Given the description of an element on the screen output the (x, y) to click on. 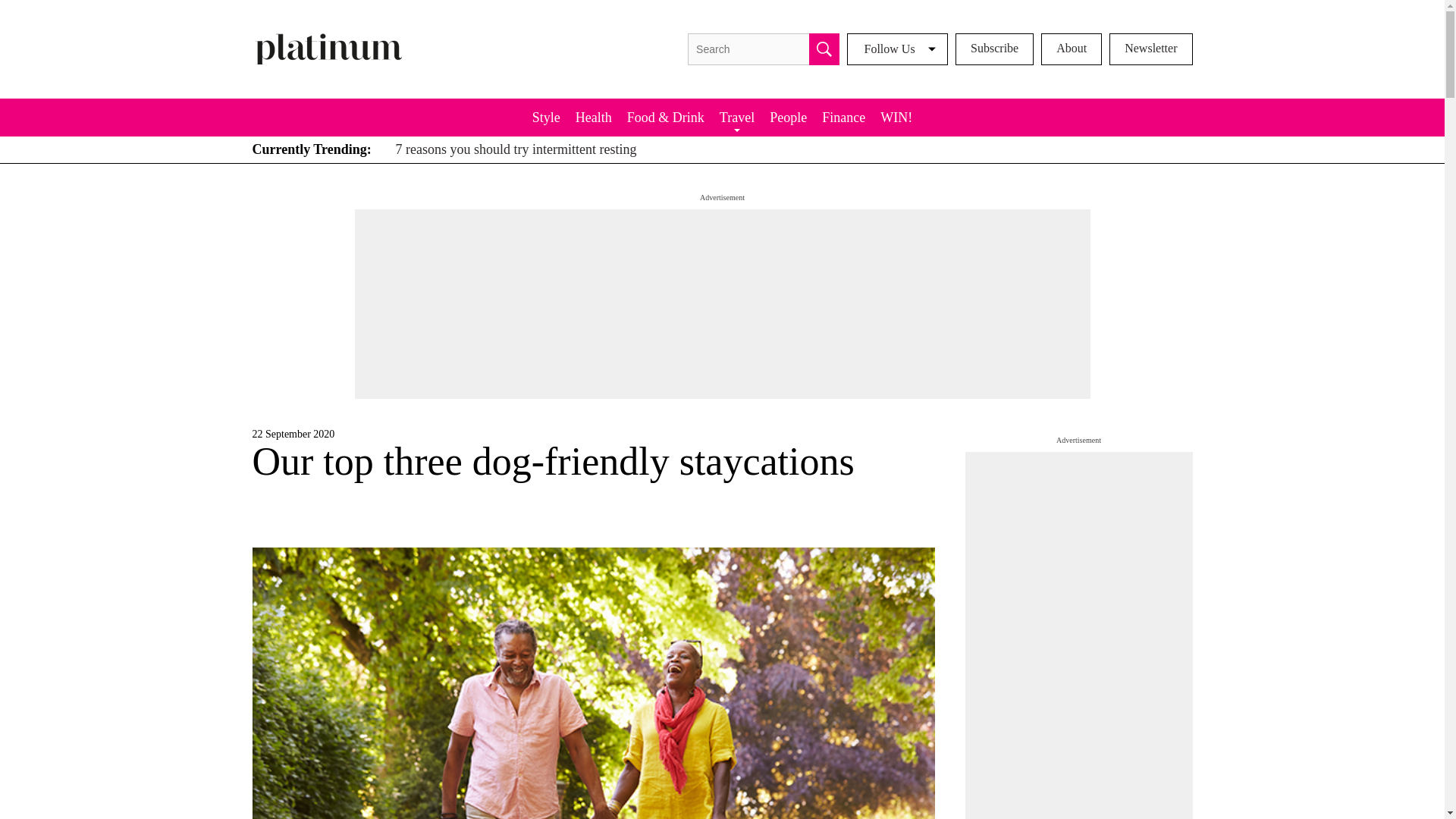
Subscribe (994, 49)
Travel (736, 117)
  7 reasons you should try intermittent resting  (513, 149)
Search (824, 49)
Health (593, 117)
People (787, 117)
WIN! (896, 117)
Follow Us (897, 49)
Newsletter (1150, 49)
Style (545, 117)
About (1071, 49)
Finance (842, 117)
